Given the description of an element on the screen output the (x, y) to click on. 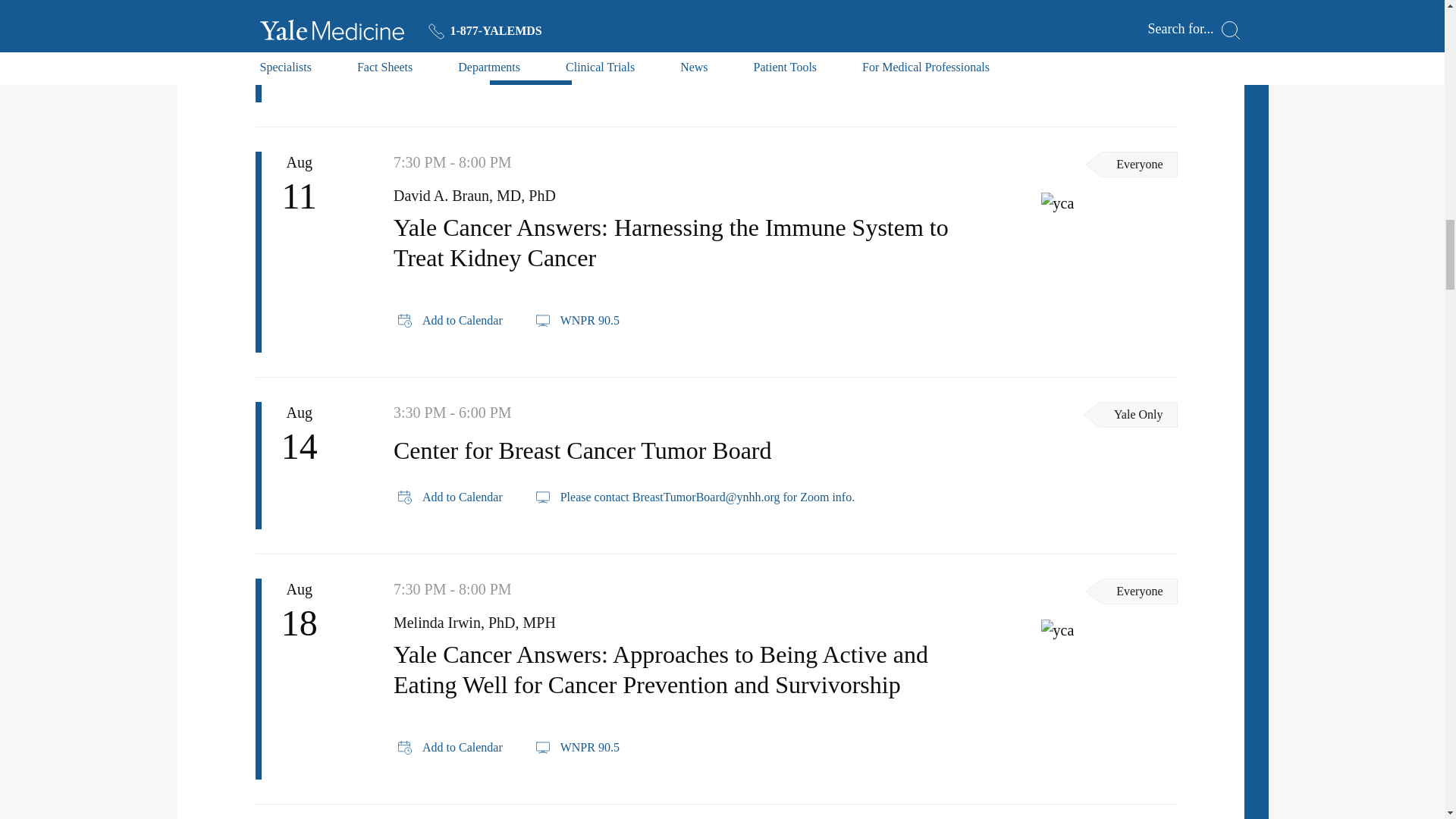
Add to Calendar (449, 747)
Add to Calendar (449, 321)
Yale Cancer Answers (1108, 202)
Add to Calendar (449, 70)
Add to Calendar (449, 497)
Yale Cancer Answers (1108, 629)
